Given the description of an element on the screen output the (x, y) to click on. 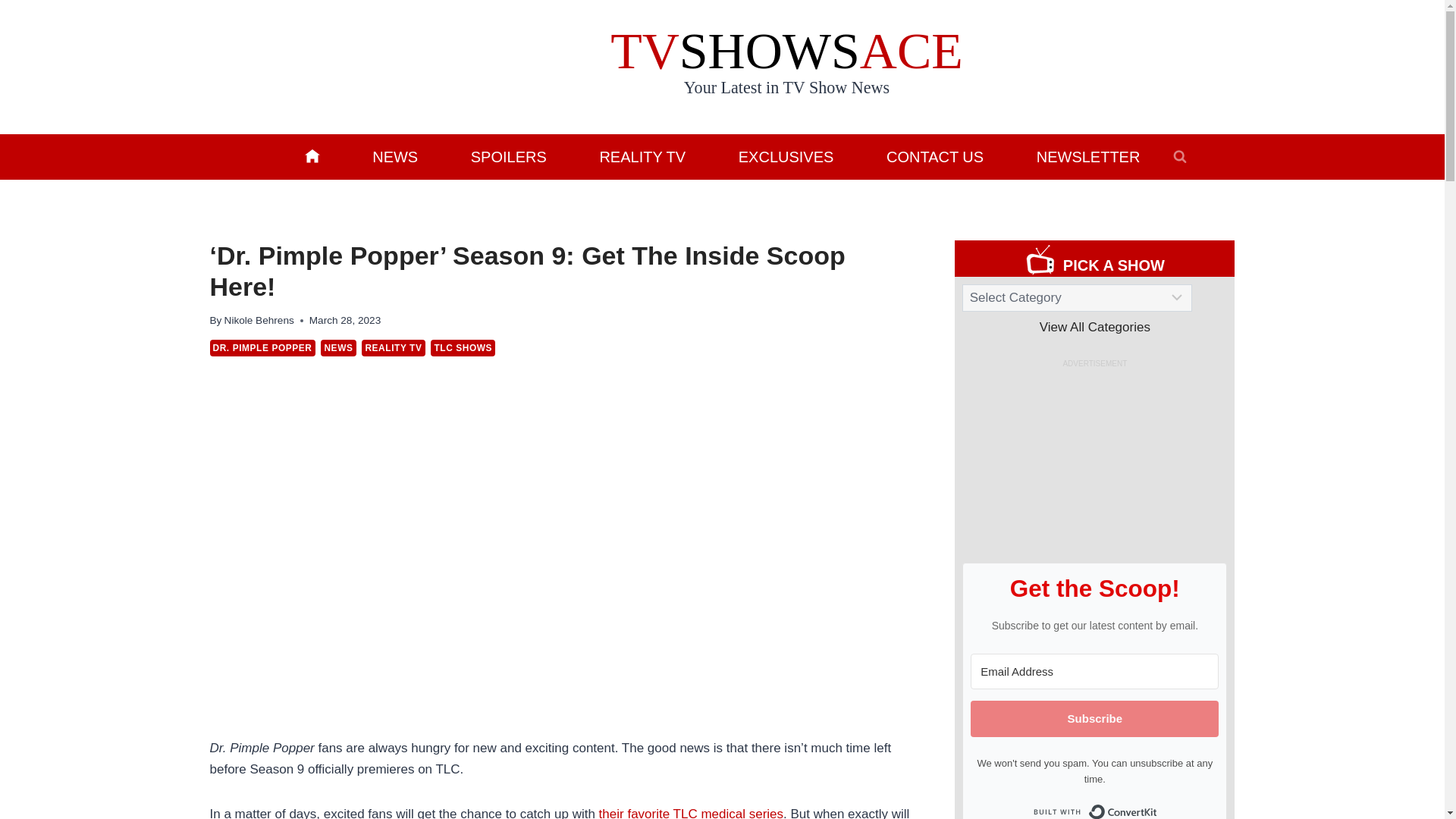
EXCLUSIVES (785, 156)
CONTACT US (935, 156)
NEWS (337, 347)
DR. PIMPLE POPPER (261, 347)
REALITY TV (393, 347)
REALITY TV (642, 156)
their favorite TLC medical series (690, 812)
NEWS (395, 156)
SPOILERS (508, 156)
TLC SHOWS (462, 347)
Nikole Behrens (259, 319)
NEWSLETTER (1088, 156)
